Given the description of an element on the screen output the (x, y) to click on. 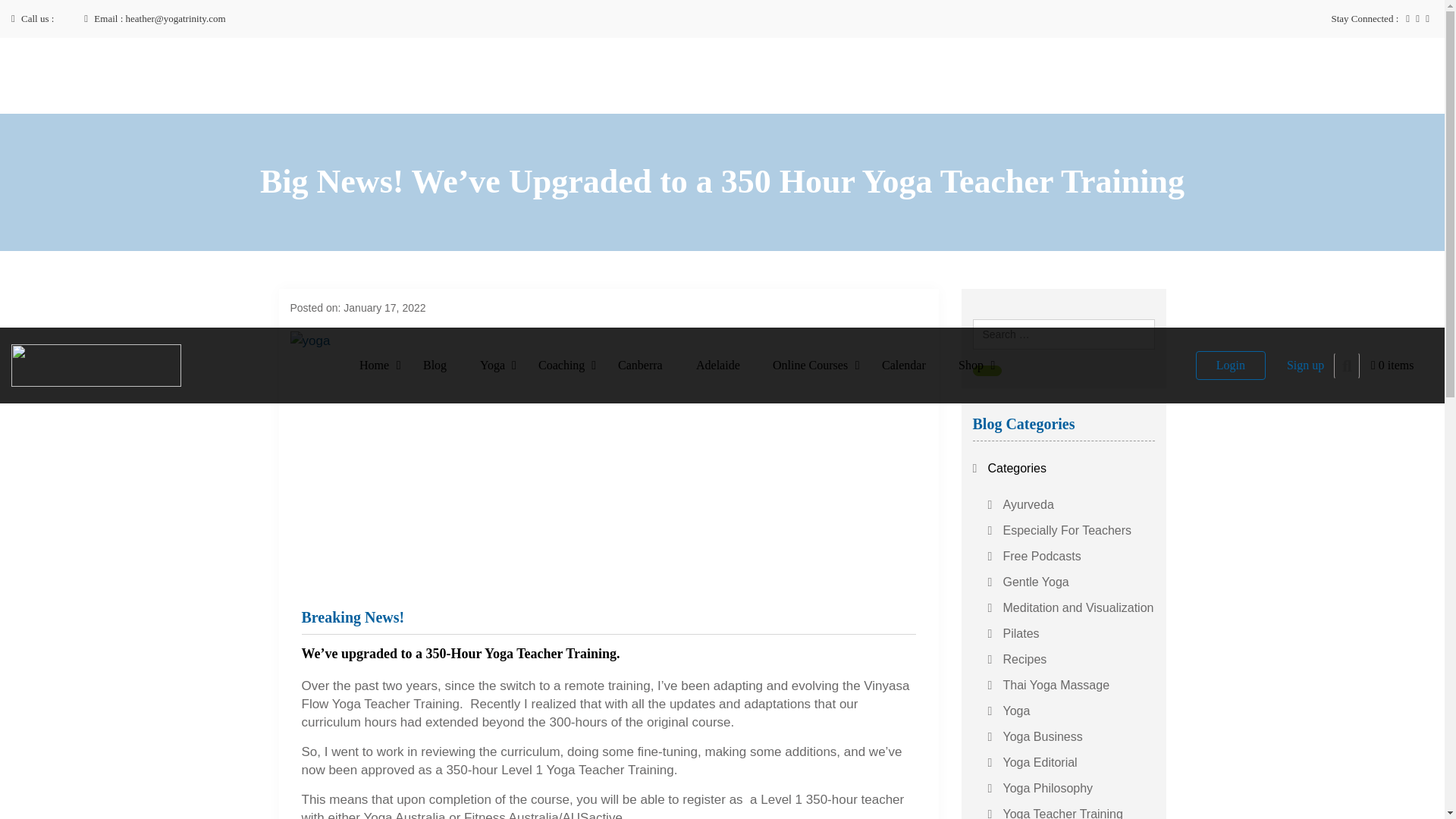
Blog (434, 364)
Online Courses (810, 364)
Adelaide (717, 364)
Canberra (639, 364)
Read more about Yoga Teacher Training (492, 364)
Yoga (492, 364)
Home (373, 364)
Yoga Podcasts, Articles, Recipes (434, 364)
Coaching (561, 364)
Online or Distance Education Courses (810, 364)
